Given the description of an element on the screen output the (x, y) to click on. 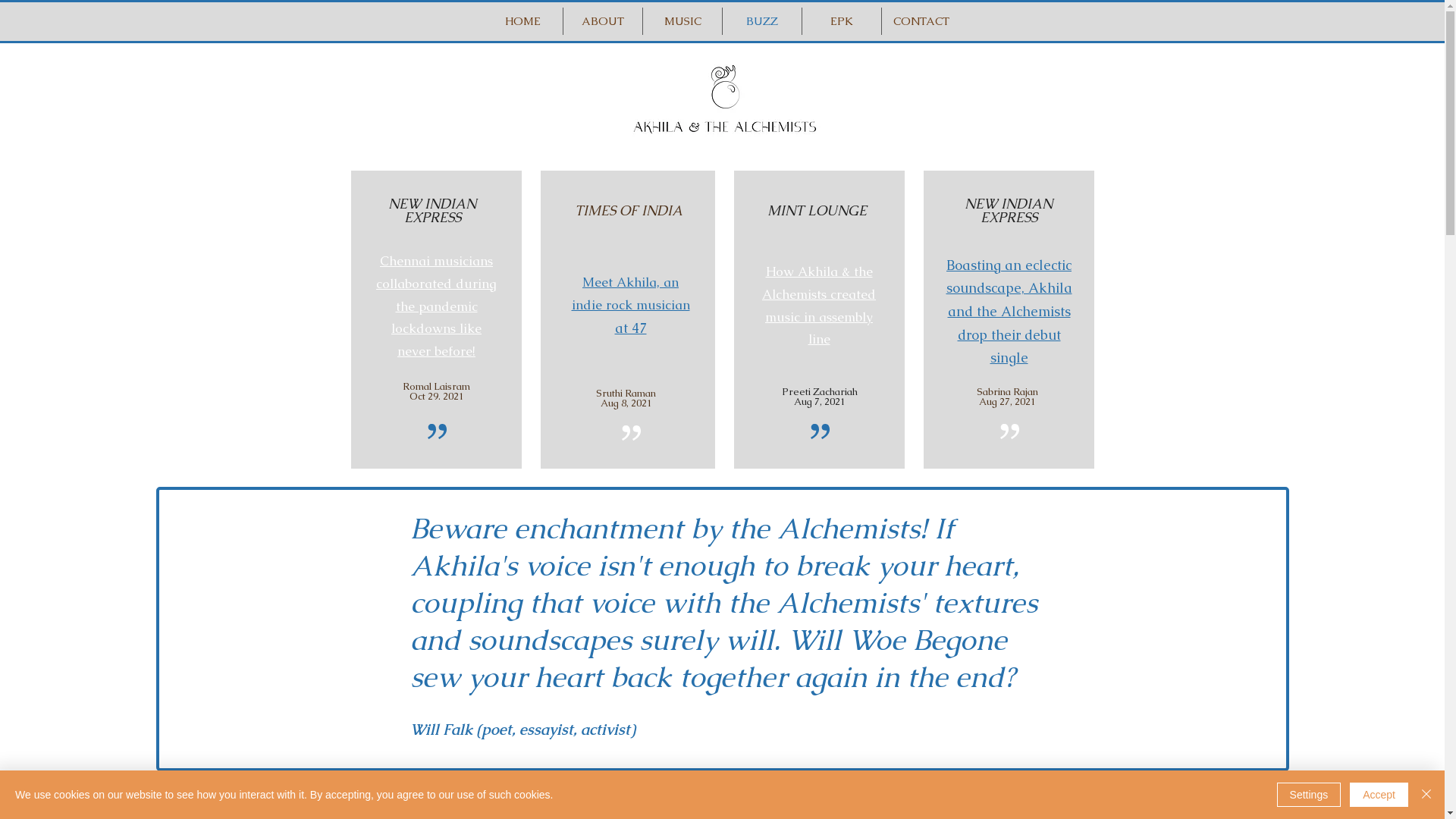
MUSIC Element type: text (682, 20)
banner.jpg Element type: hover (722, 103)
HOME Element type: text (522, 20)
BUZZ Element type: text (761, 20)
CONTACT Element type: text (920, 20)
ABOUT Element type: text (602, 20)
at 47 Element type: text (630, 327)
Meet Akhila, an indie rock musician Element type: text (630, 293)
How Akhila & the Alchemists created music in assembly line Element type: text (818, 305)
Settings Element type: text (1309, 794)
EPK Element type: text (841, 20)
Accept Element type: text (1378, 794)
